Given the description of an element on the screen output the (x, y) to click on. 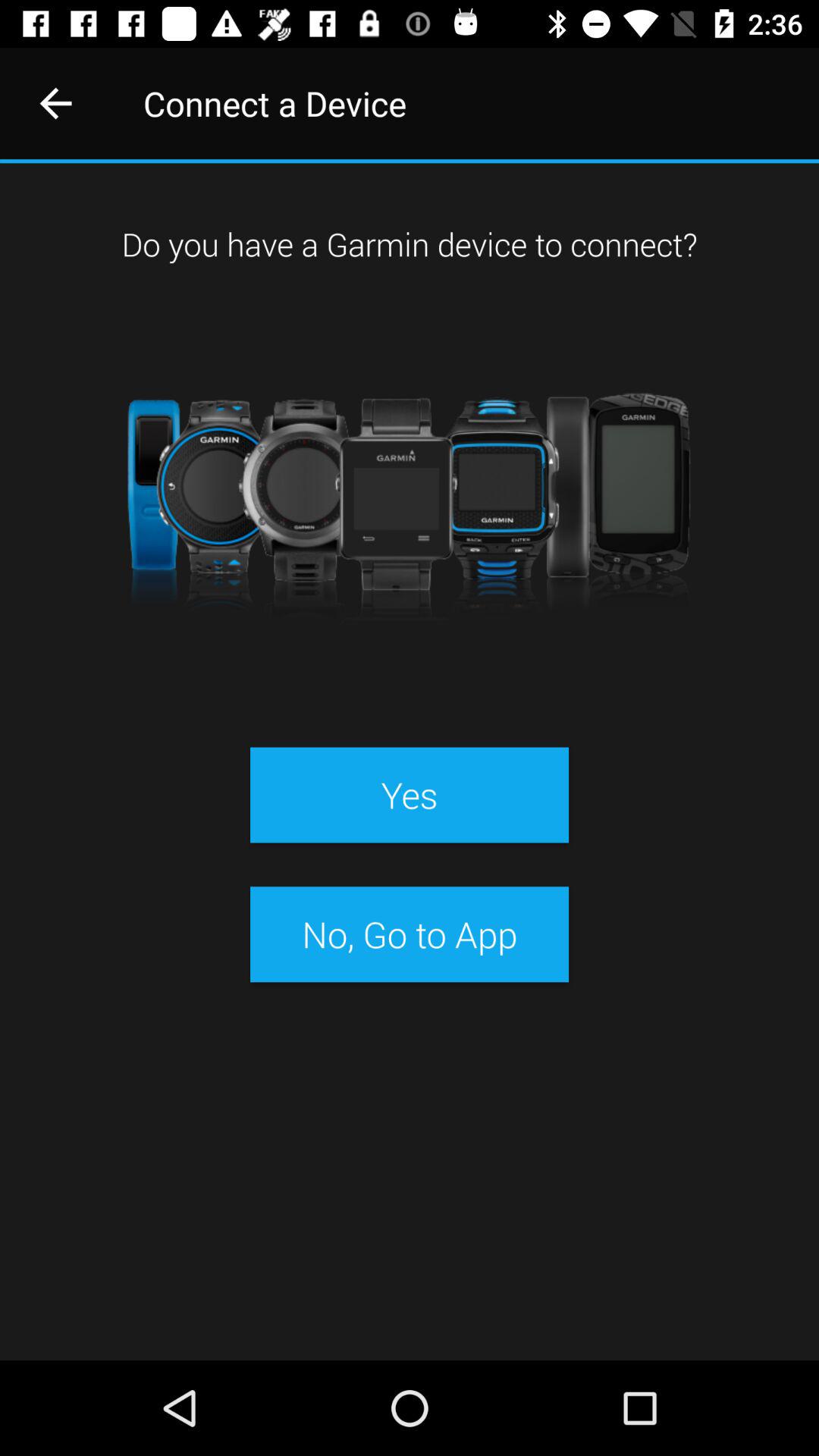
jump until yes icon (409, 794)
